Given the description of an element on the screen output the (x, y) to click on. 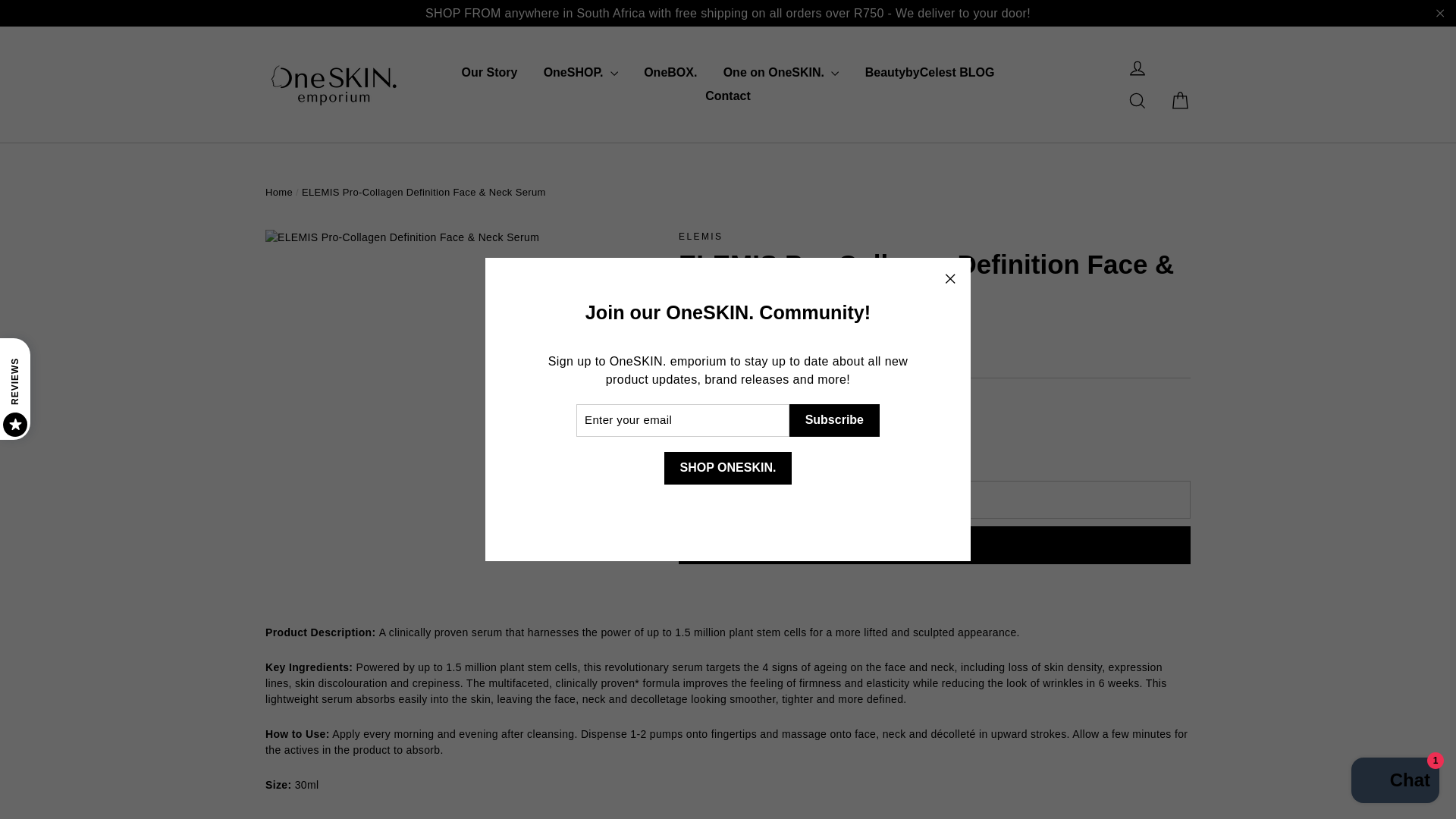
1 (716, 435)
Back to the frontpage (278, 192)
